Given the description of an element on the screen output the (x, y) to click on. 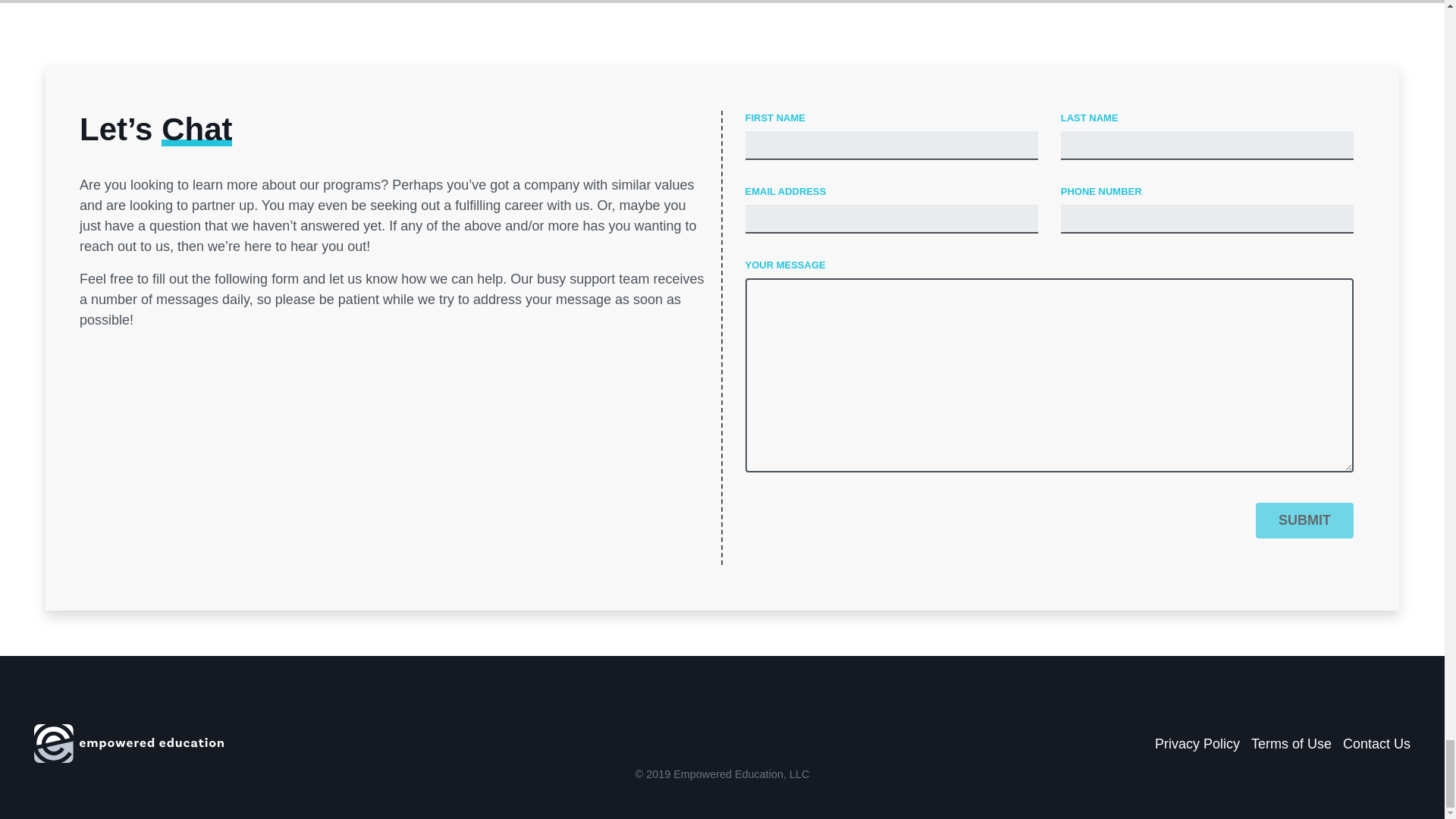
Terms of Use (1291, 743)
SUBMIT (1304, 520)
Privacy Policy (1197, 743)
Contact Us (1376, 743)
